Given the description of an element on the screen output the (x, y) to click on. 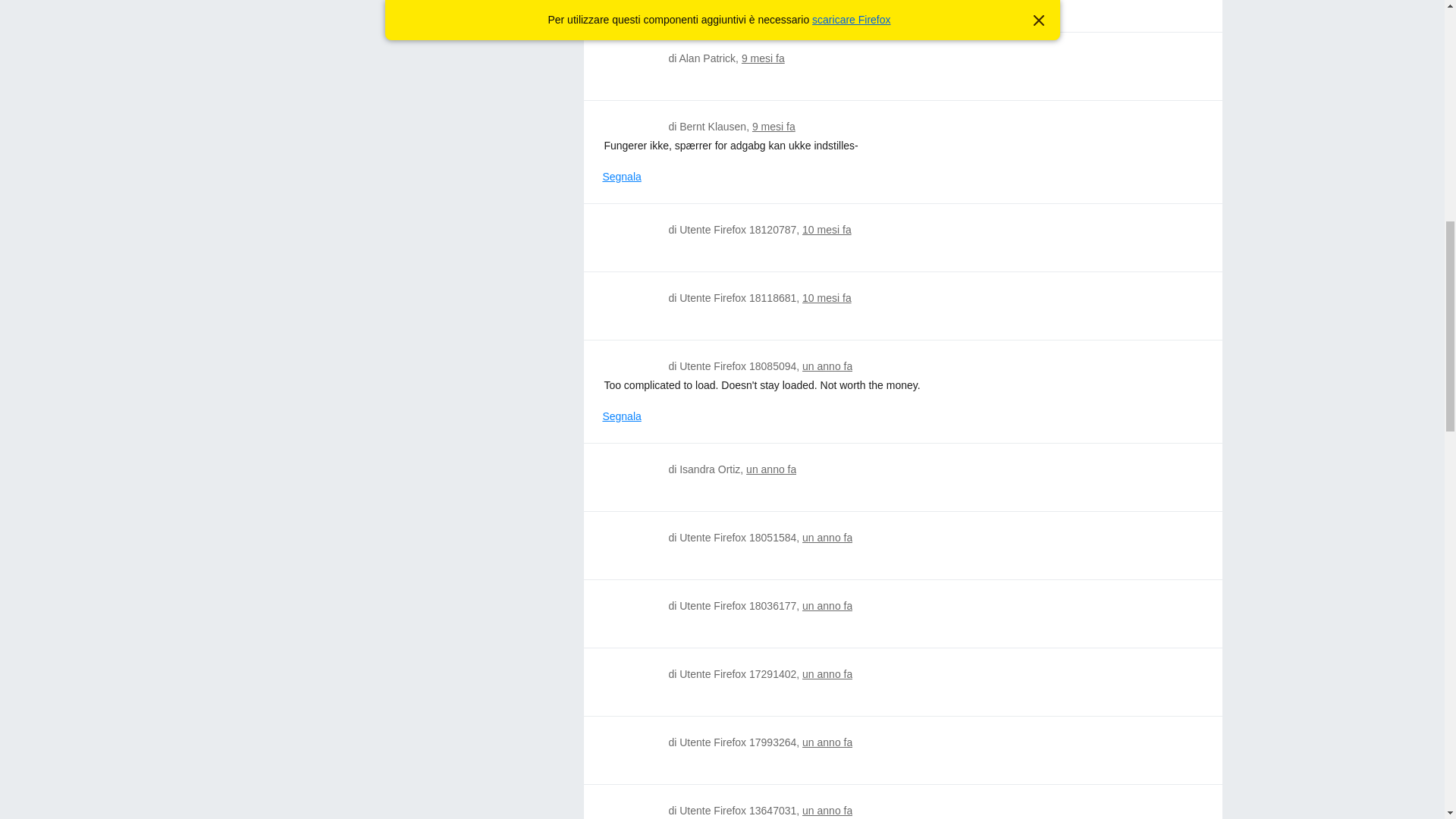
un anno fa (826, 366)
un anno fa (826, 742)
un anno fa (770, 469)
Segnala (621, 416)
9 mesi fa (762, 58)
un anno fa (826, 537)
un anno fa (826, 674)
9 mesi fa (773, 126)
un anno fa (826, 605)
Segnala (621, 176)
